Given the description of an element on the screen output the (x, y) to click on. 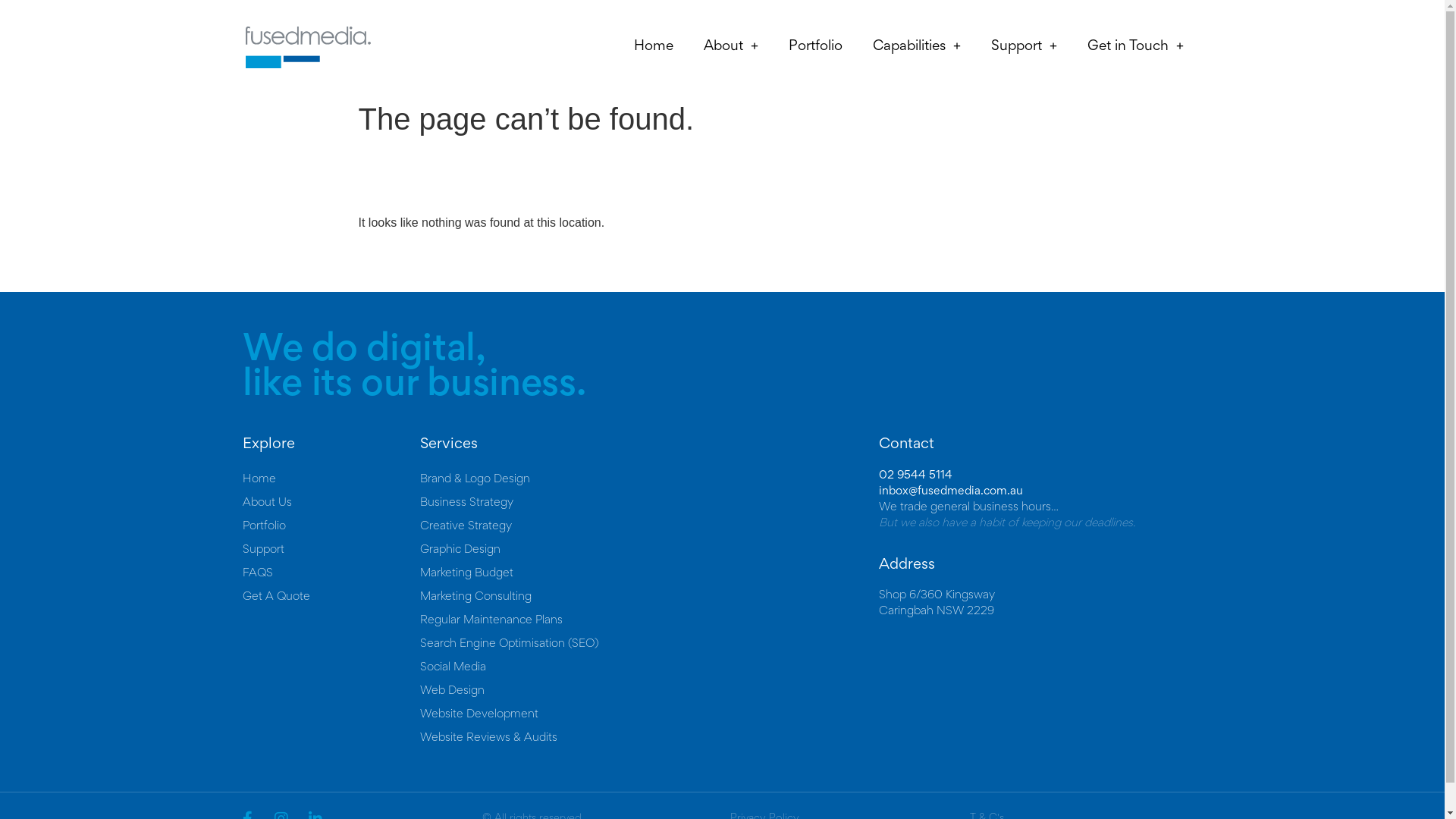
Get in Touch Element type: text (1135, 46)
Search Engine Optimisation (SEO) Element type: text (649, 643)
Brand & Logo Design Element type: text (649, 479)
Support Element type: text (1023, 46)
02 9544 5114 Element type: text (915, 475)
Business Strategy Element type: text (649, 502)
Support Element type: text (331, 549)
Get A Quote Element type: text (331, 596)
Website Development Element type: text (649, 714)
Portfolio Element type: text (815, 46)
Capabilities Element type: text (916, 46)
FAQS Element type: text (331, 573)
Creative Strategy Element type: text (649, 526)
Web Design Element type: text (649, 690)
Social Media Element type: text (649, 667)
Marketing Consulting Element type: text (649, 596)
About Element type: text (730, 46)
inbox@fusedmedia.com.au Element type: text (950, 491)
Portfolio Element type: text (331, 526)
Marketing Budget Element type: text (649, 573)
Home Element type: text (653, 46)
Graphic Design Element type: text (649, 549)
About Us Element type: text (331, 502)
Home Element type: text (331, 479)
Regular Maintenance Plans Element type: text (649, 620)
Website Reviews & Audits Element type: text (649, 737)
